Given the description of an element on the screen output the (x, y) to click on. 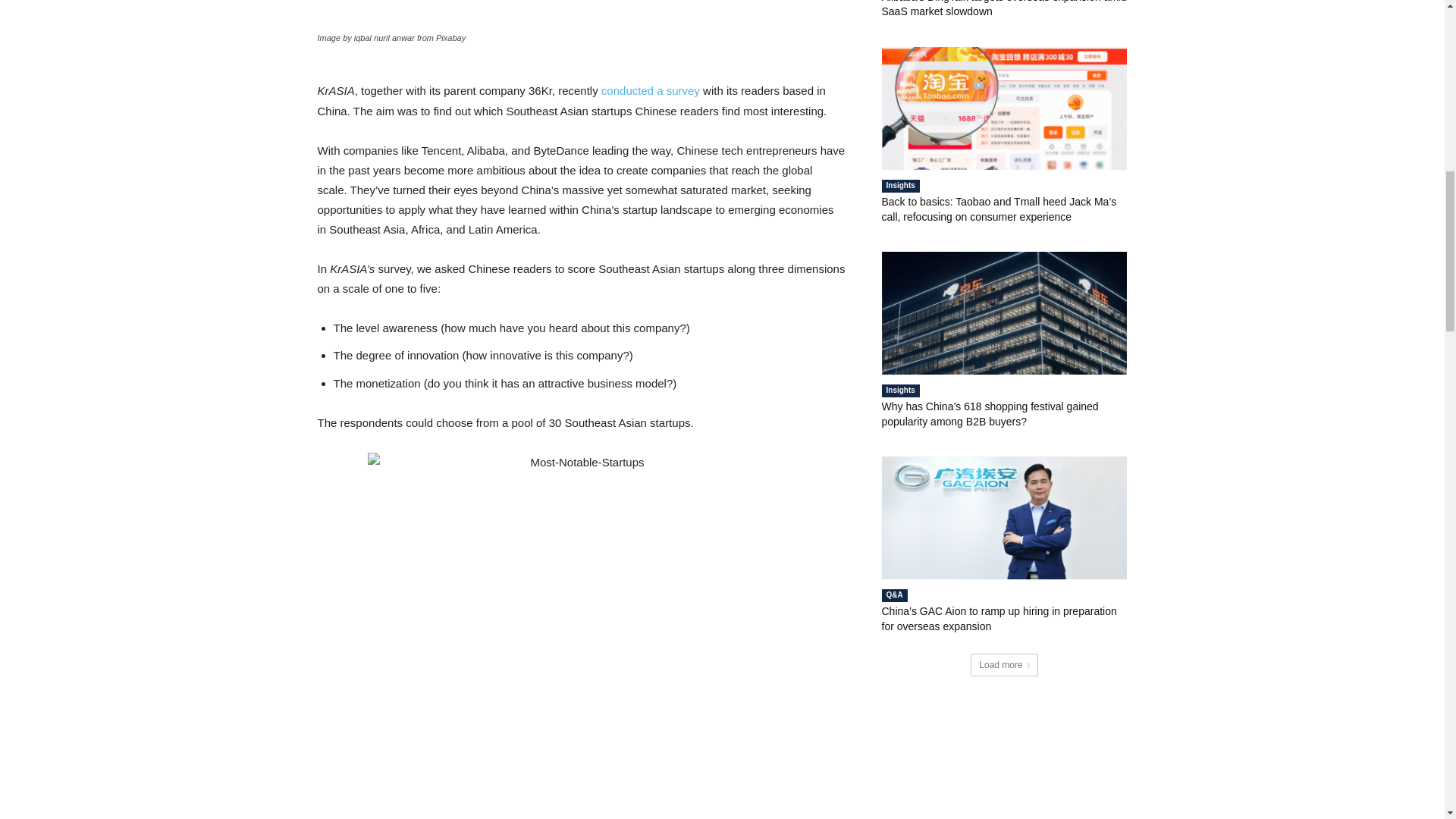
conducted a survey (650, 90)
